Given the description of an element on the screen output the (x, y) to click on. 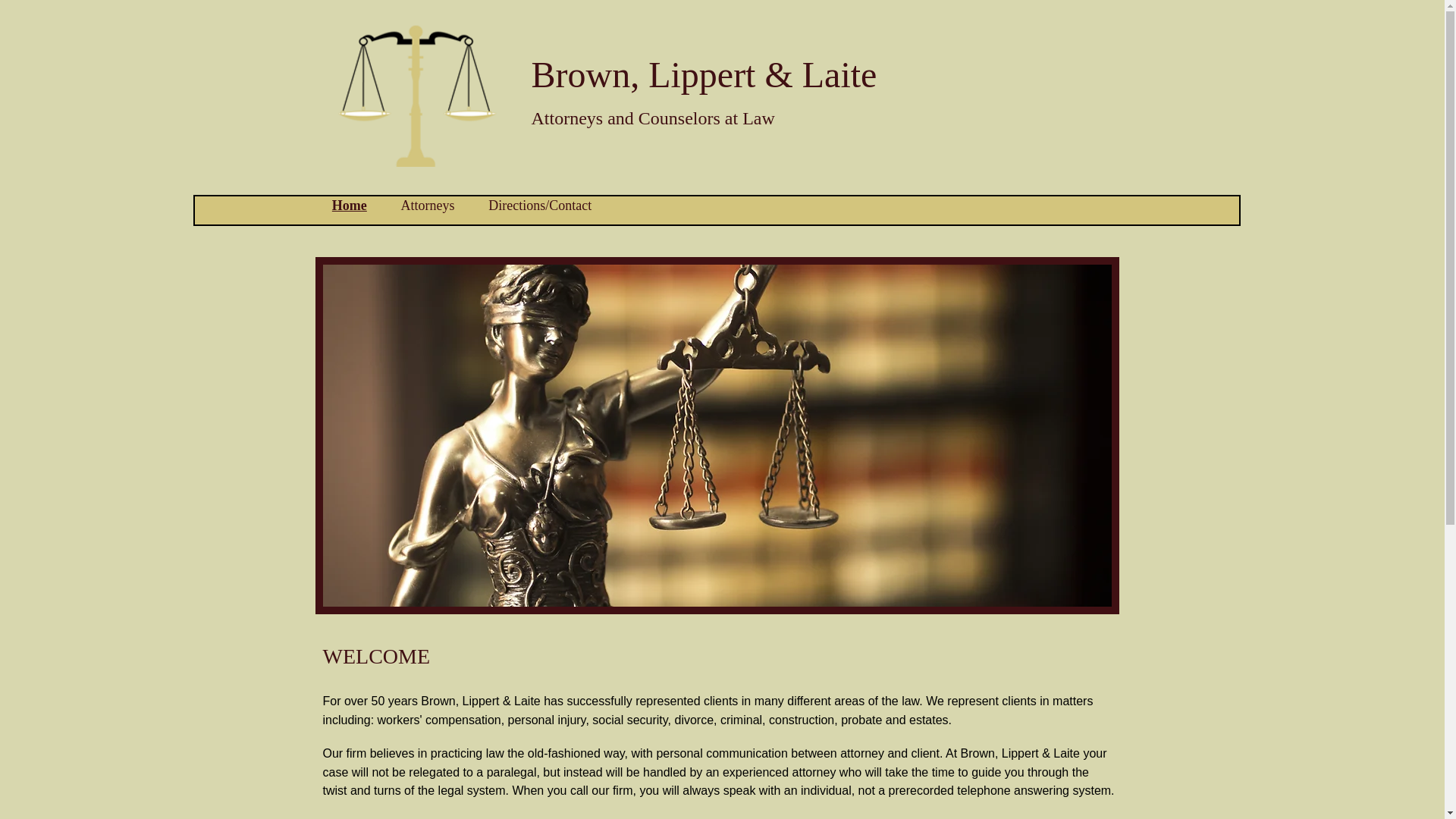
Home (349, 205)
Attorneys (427, 205)
